Given the description of an element on the screen output the (x, y) to click on. 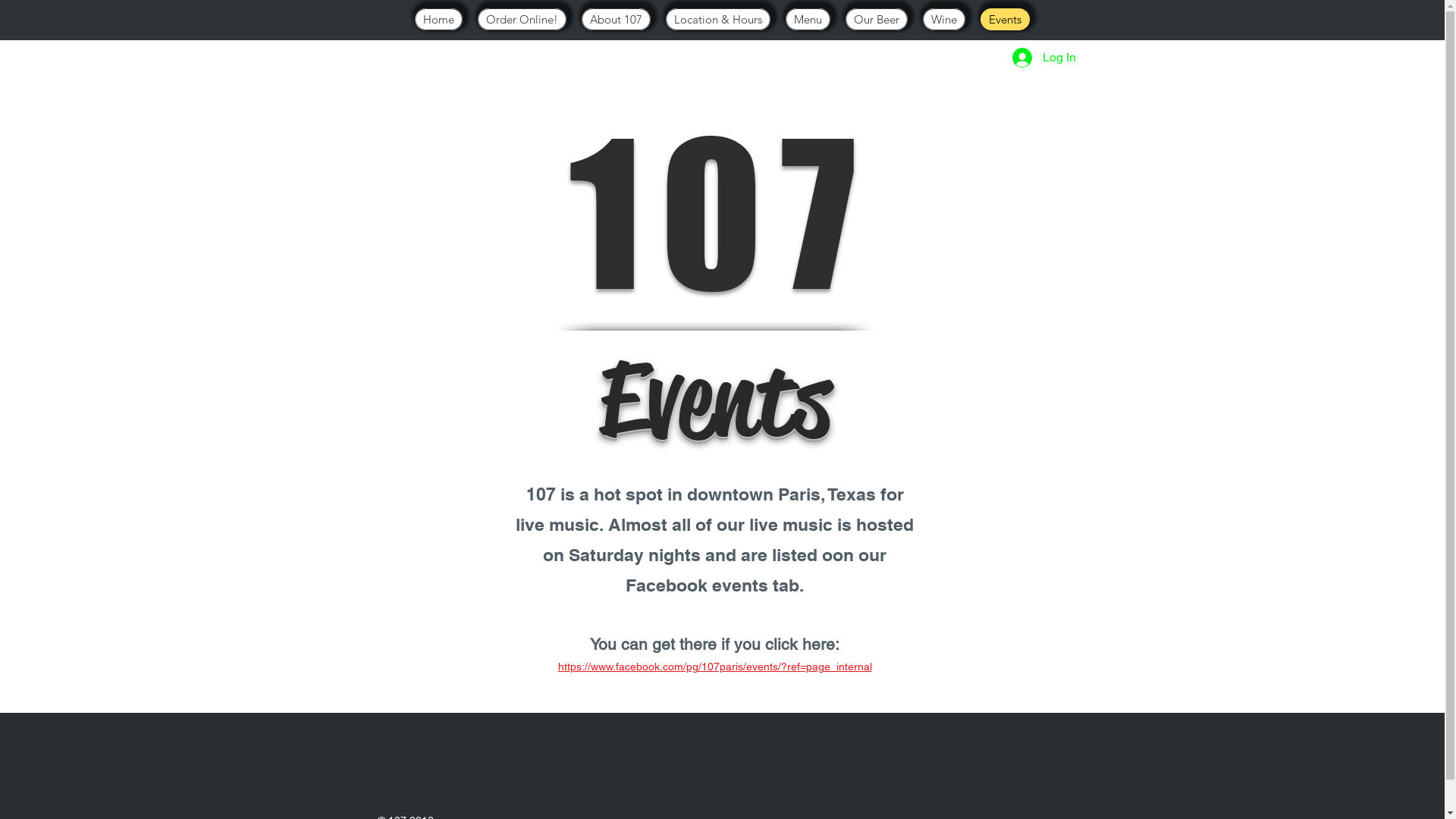
Order Online! Element type: text (521, 19)
Our Beer Element type: text (875, 19)
Log In Element type: text (1043, 57)
Location & Hours Element type: text (717, 19)
Home Element type: text (437, 19)
About 107 Element type: text (614, 19)
Wine Element type: text (943, 19)
Menu Element type: text (807, 19)
Events Element type: text (1004, 19)
